Given the description of an element on the screen output the (x, y) to click on. 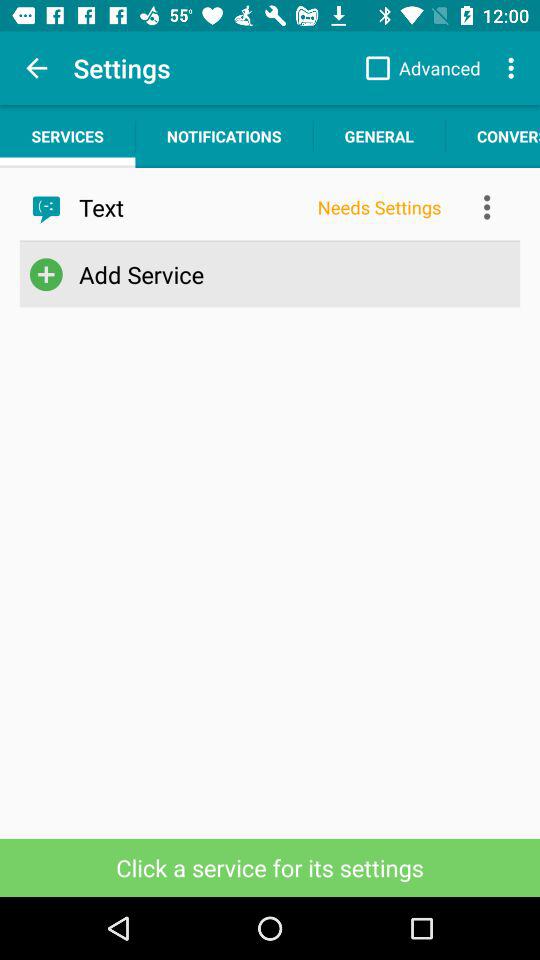
click the icon to the right of text item (379, 207)
